Given the description of an element on the screen output the (x, y) to click on. 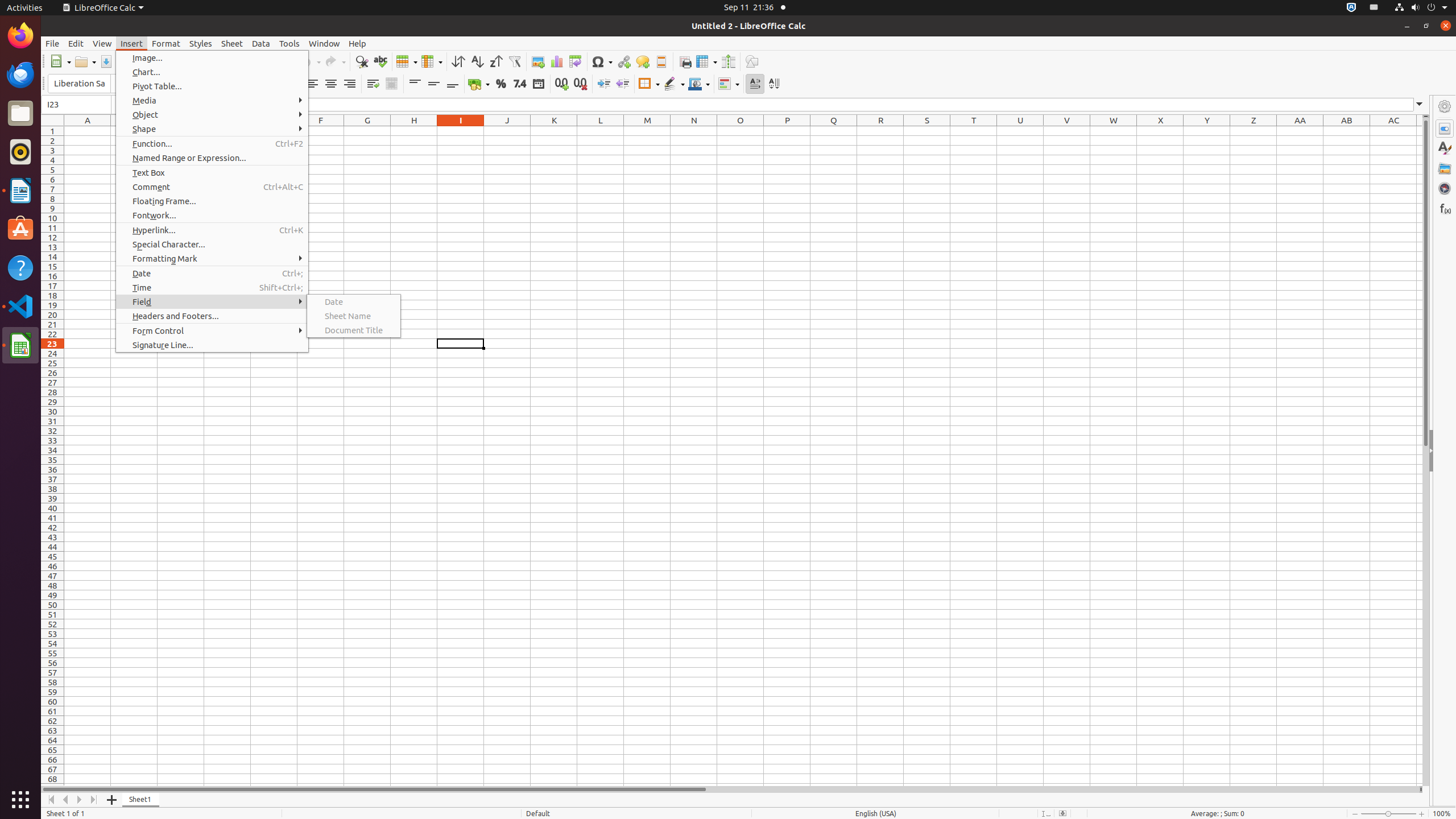
Floating Frame... Element type: menu-item (212, 200)
Q1 Element type: table-cell (833, 130)
Currency Element type: push-button (478, 83)
Sheet1 Element type: page-tab (140, 799)
Chart... Element type: menu-item (212, 71)
